Given the description of an element on the screen output the (x, y) to click on. 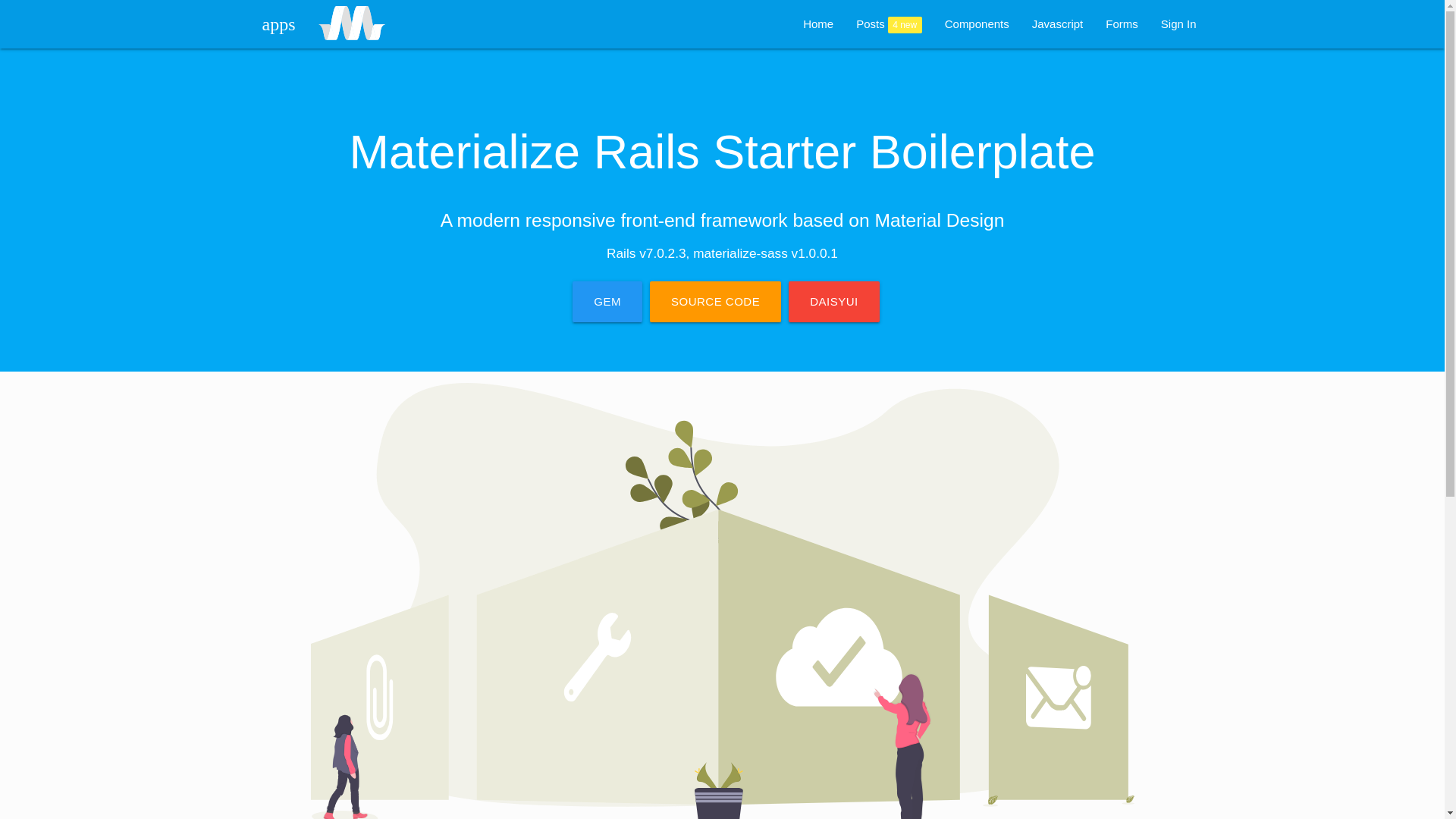
apps (272, 24)
Sign In (1179, 24)
Home (818, 24)
Javascript (1057, 24)
DAISYUI (834, 301)
Components (976, 24)
Forms (1122, 24)
SOURCE CODE (714, 301)
Posts4 (888, 24)
GEM (607, 301)
